Given the description of an element on the screen output the (x, y) to click on. 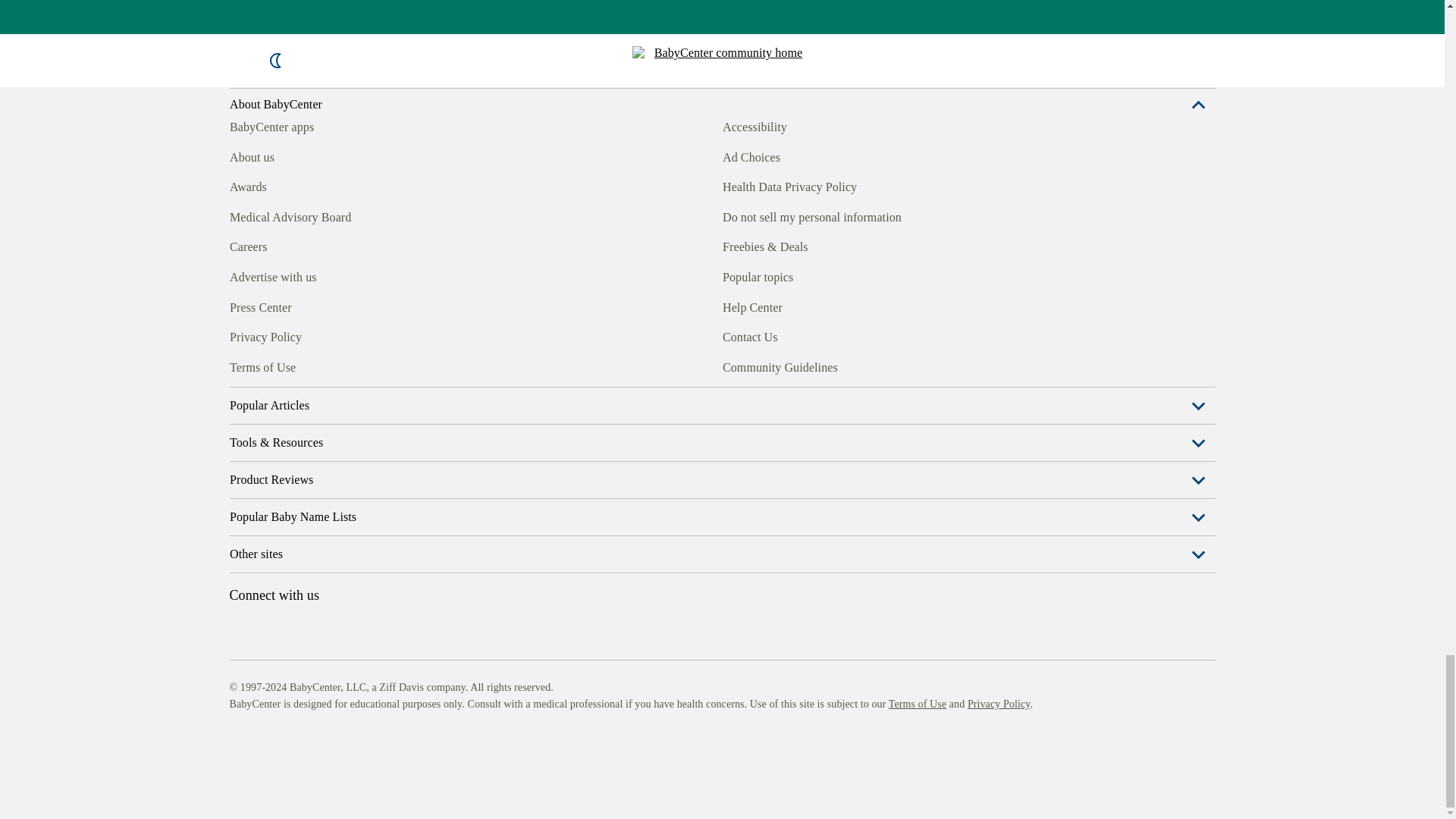
BabyCenter Facebook page (239, 576)
BabyCenter Pinterest board (309, 576)
BabyCenter Instagram feed (274, 576)
BabyCenter YouTube channel (344, 576)
BabyCenter Twitter feed (379, 576)
